Given the description of an element on the screen output the (x, y) to click on. 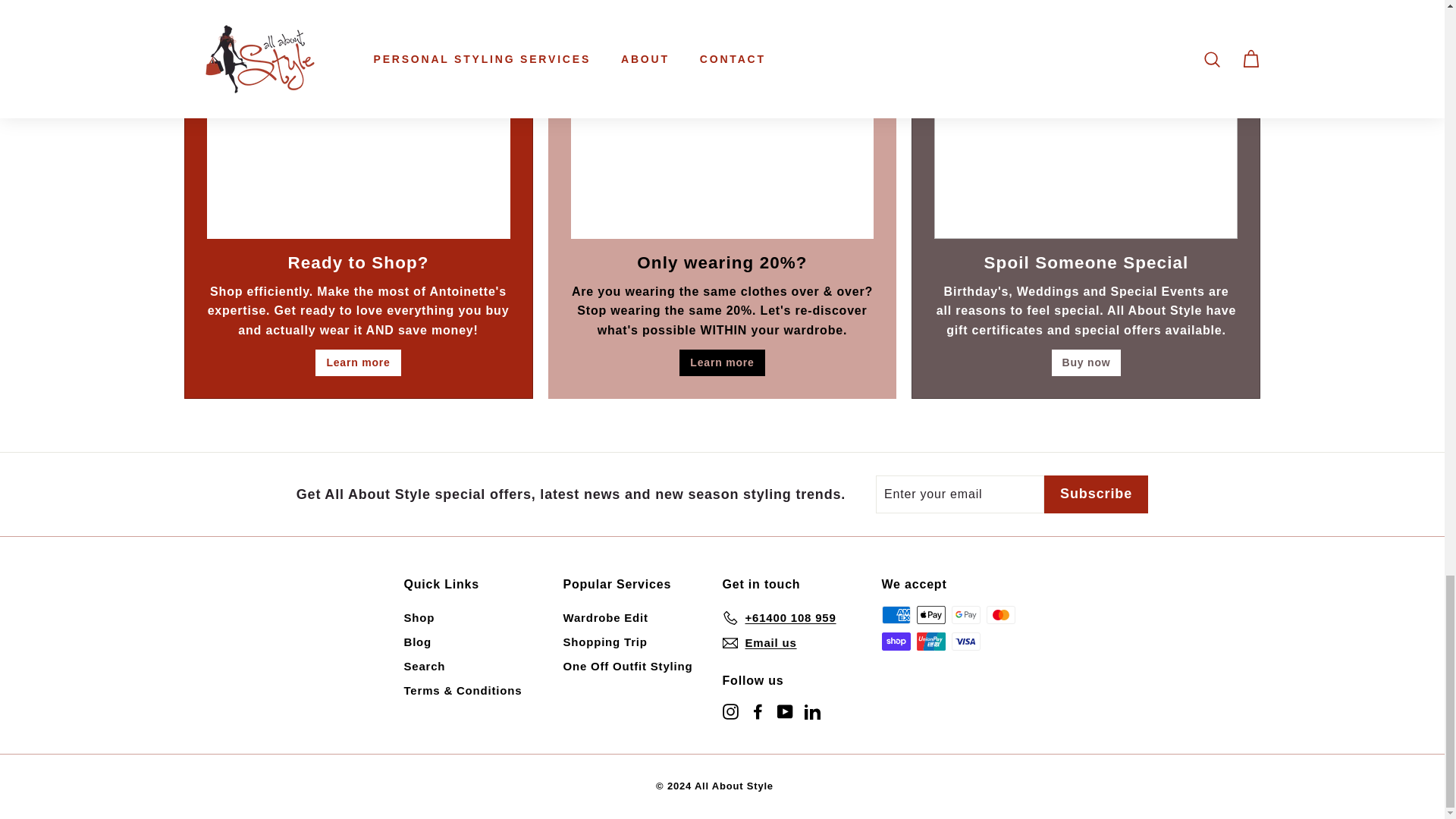
Mastercard (999, 615)
American Express (895, 615)
Union Pay (929, 641)
Apple Pay (929, 615)
Shop Pay (895, 641)
Google Pay (964, 615)
Visa (964, 641)
